Given the description of an element on the screen output the (x, y) to click on. 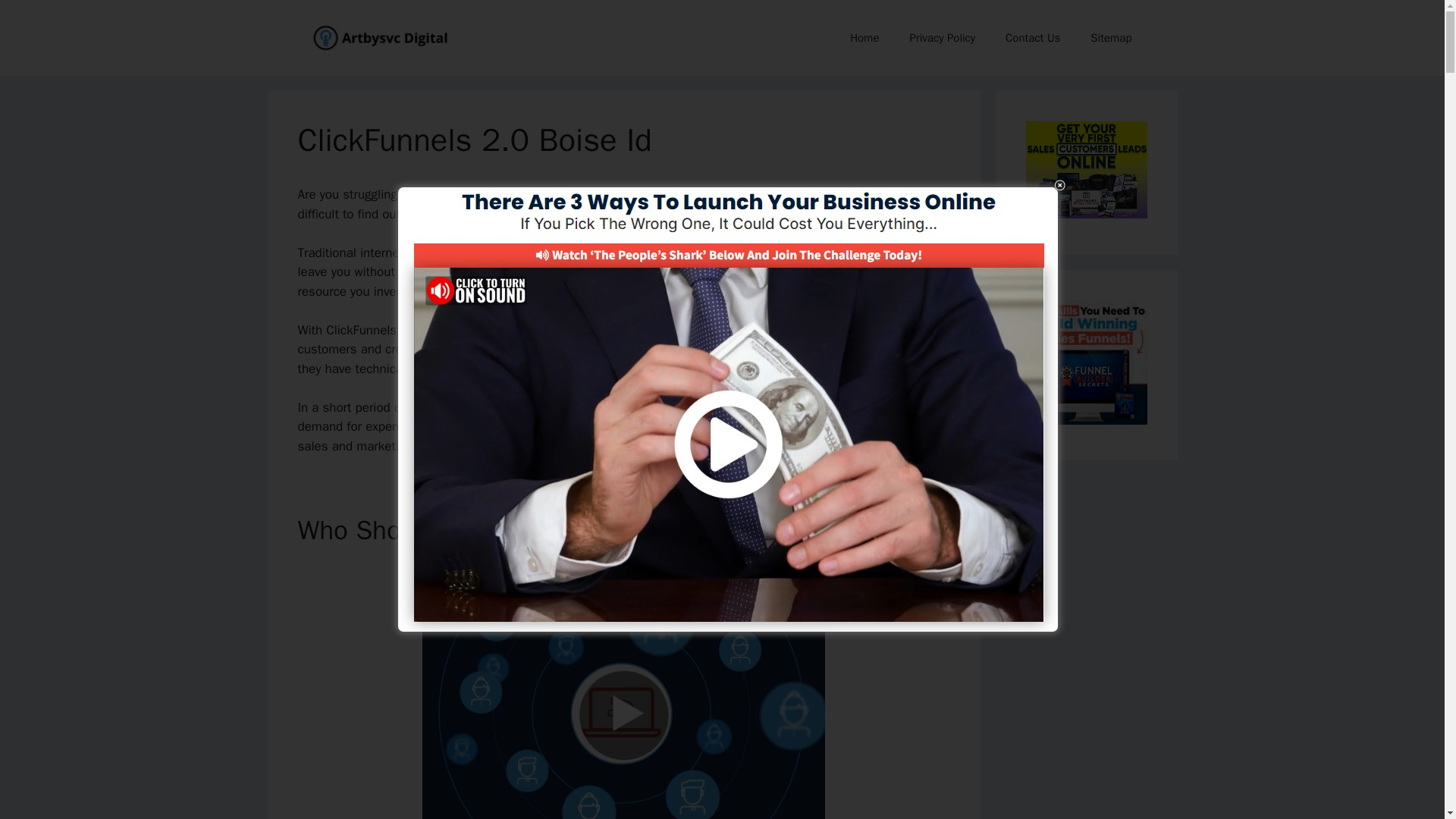
Contact Us (1032, 37)
Sitemap (1111, 37)
Home (863, 37)
Privacy Policy (941, 37)
